Given the description of an element on the screen output the (x, y) to click on. 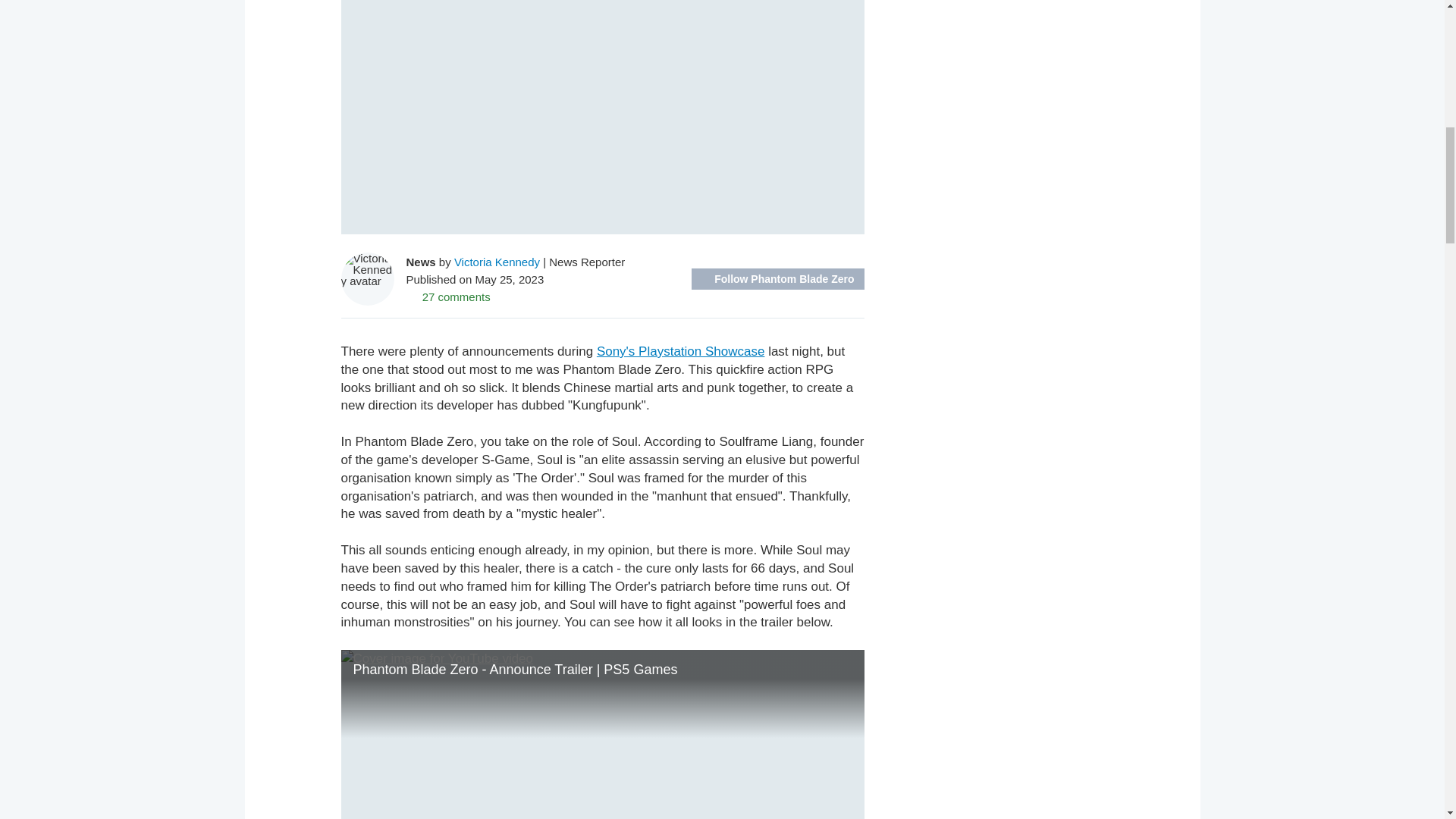
Sony's Playstation Showcase (680, 350)
Victoria Kennedy (497, 260)
Follow Phantom Blade Zero (777, 278)
27 comments (448, 295)
